Given the description of an element on the screen output the (x, y) to click on. 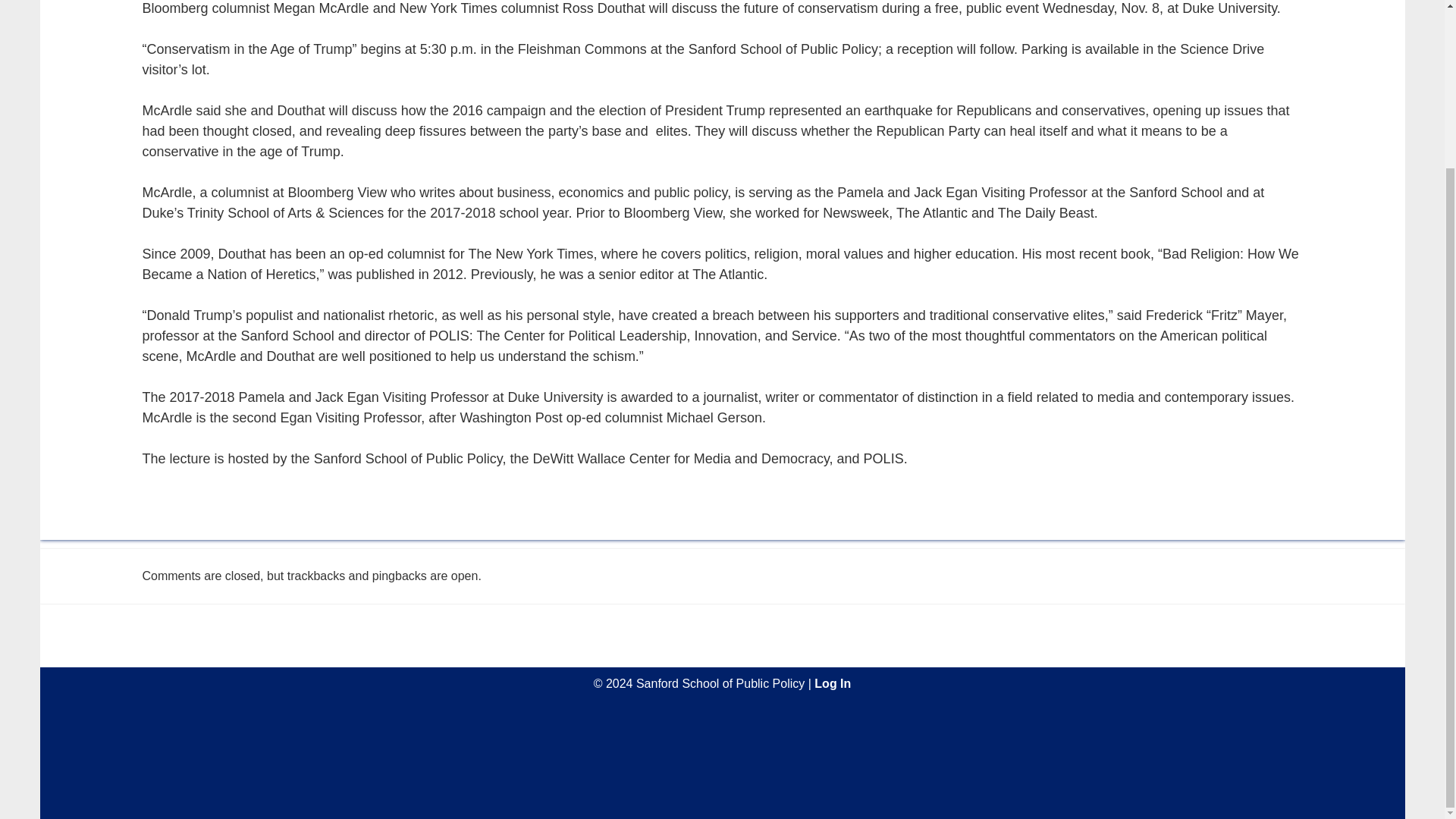
trackbacks (315, 575)
Trackback URL for this post (315, 575)
Log In (831, 683)
